Given the description of an element on the screen output the (x, y) to click on. 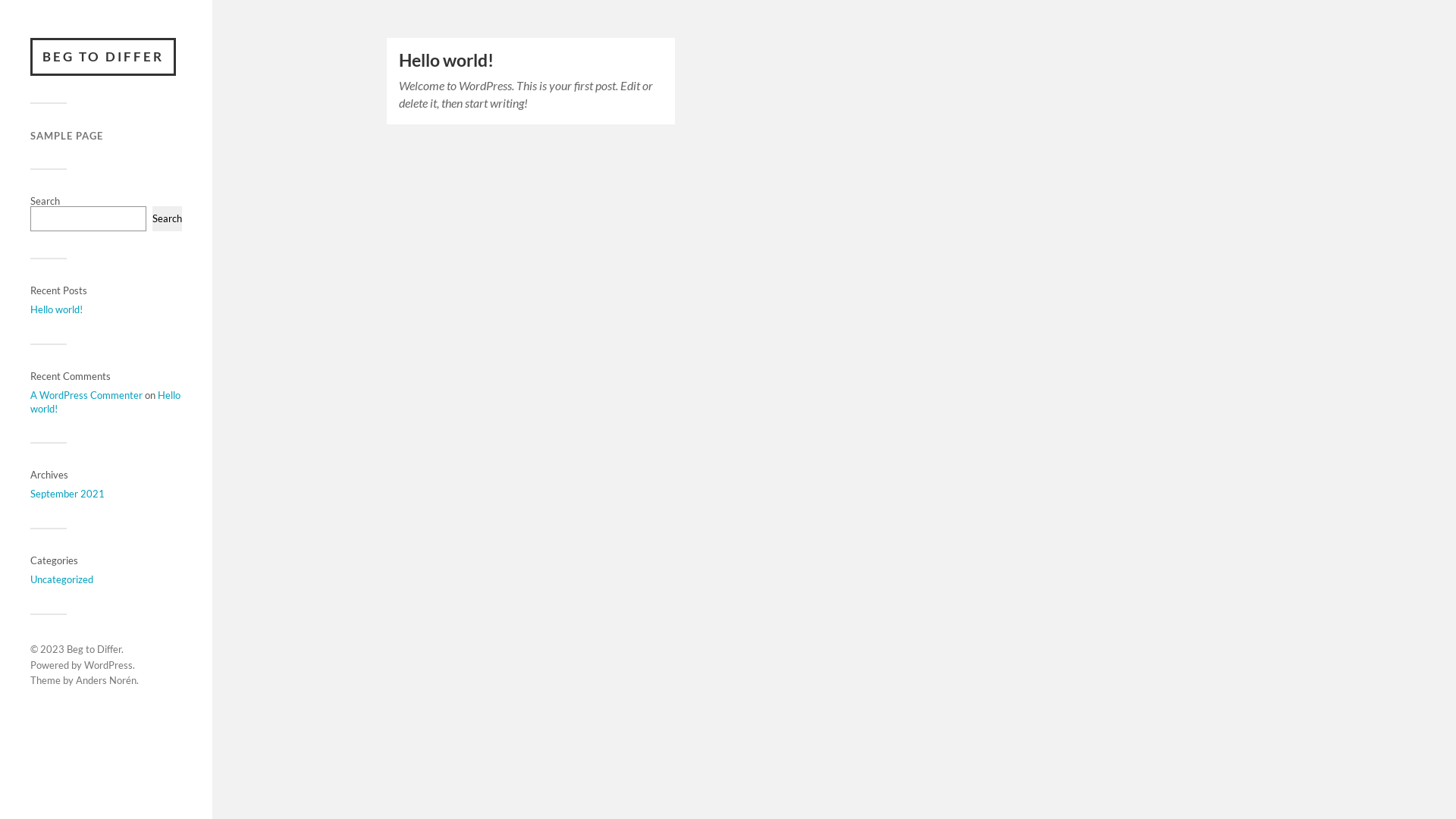
Hello world! Element type: text (105, 401)
Hello world! Element type: text (445, 60)
BEG TO DIFFER Element type: text (102, 56)
September 2021 Element type: text (67, 493)
WordPress Element type: text (108, 664)
Beg to Differ Element type: text (93, 649)
SAMPLE PAGE Element type: text (66, 134)
A WordPress Commenter Element type: text (86, 395)
Hello world! Element type: text (56, 309)
Uncategorized Element type: text (61, 579)
Search Element type: text (167, 218)
